Given the description of an element on the screen output the (x, y) to click on. 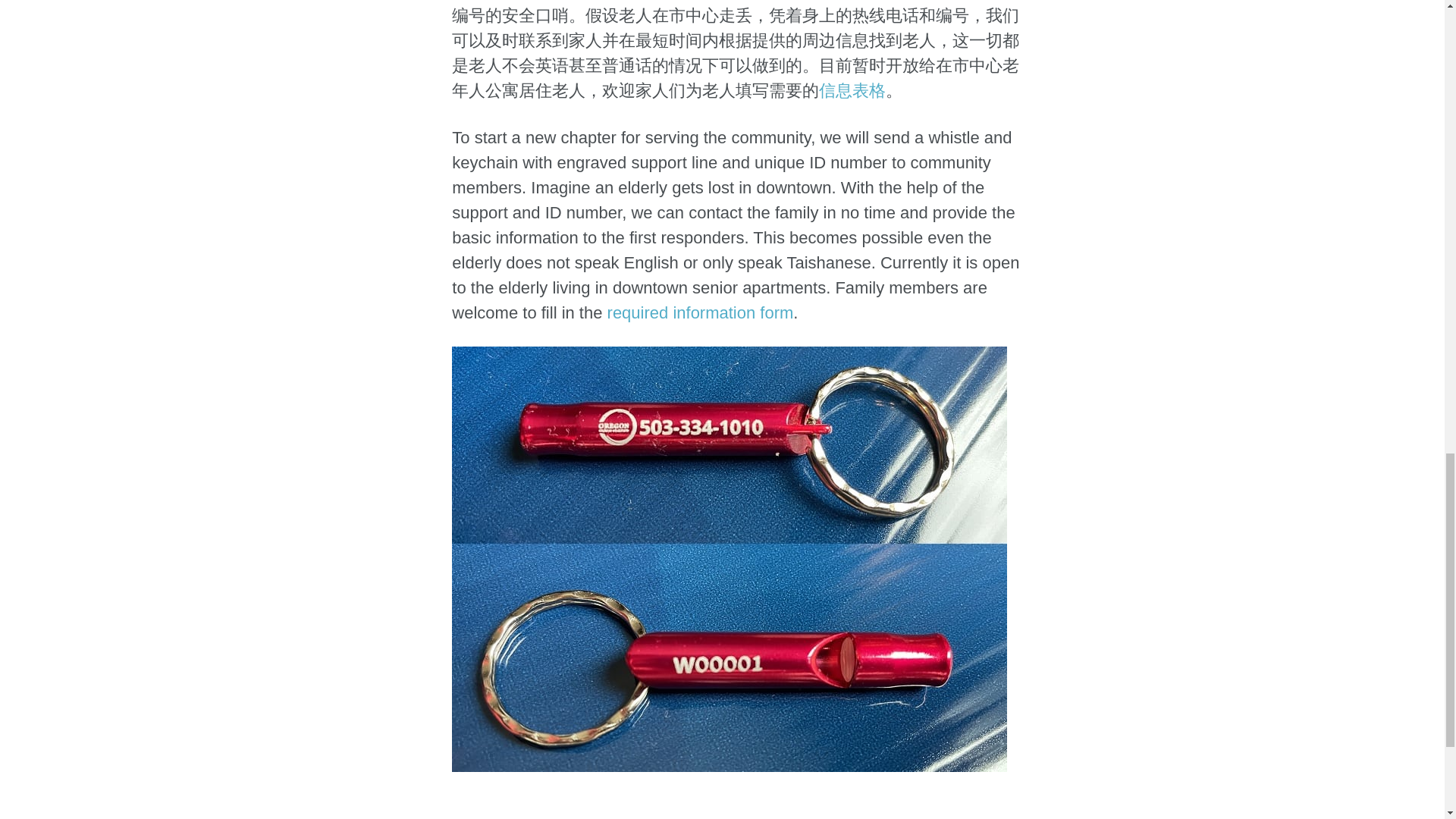
required information form (700, 312)
